Given the description of an element on the screen output the (x, y) to click on. 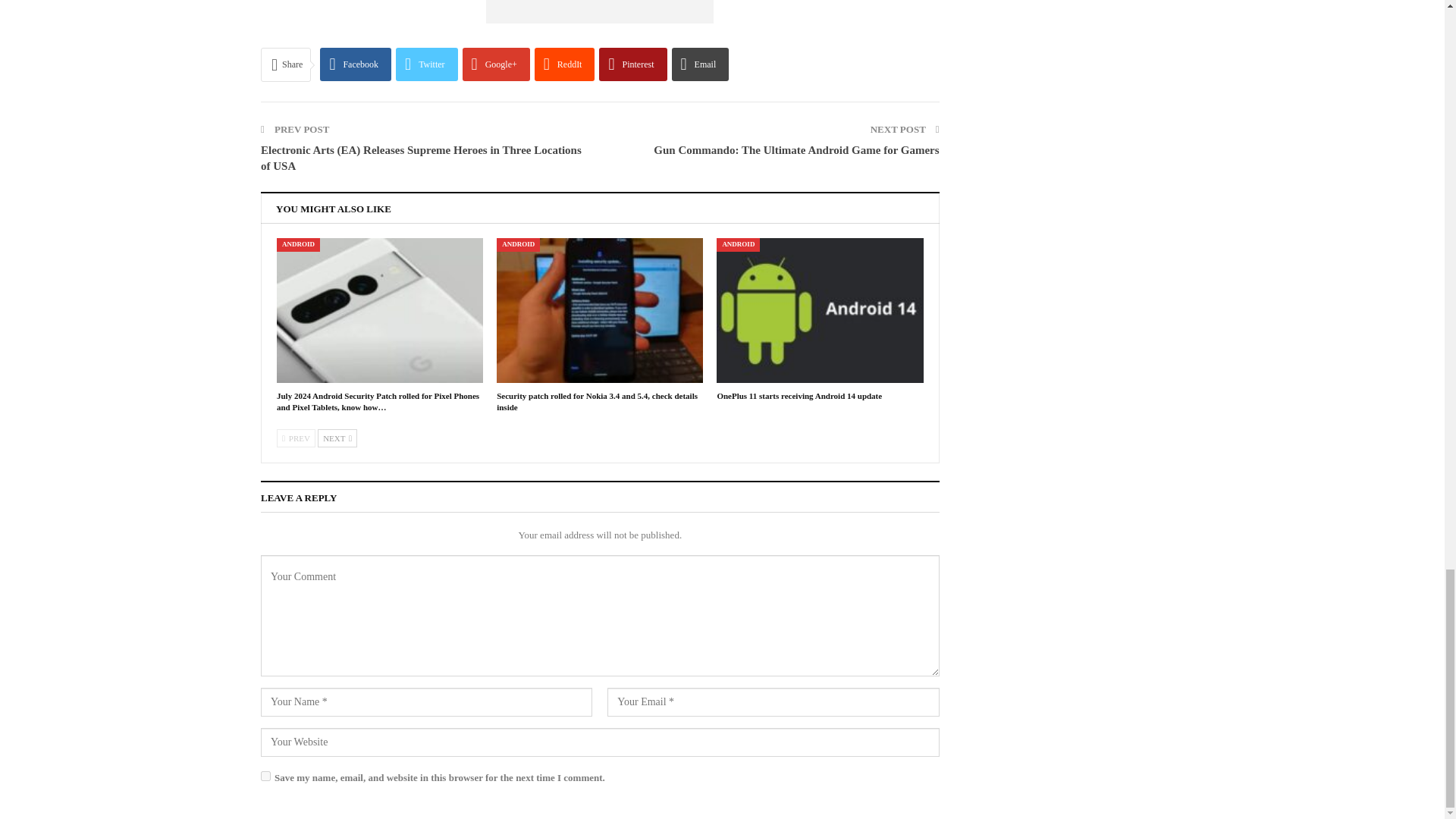
OnePlus 11 starts receiving Android 14 update (819, 310)
Twitter (427, 64)
Facebook (355, 64)
OnePlus 11 starts receiving Android 14 update (799, 395)
yes (265, 776)
ReddIt (564, 64)
Next (336, 438)
